Given the description of an element on the screen output the (x, y) to click on. 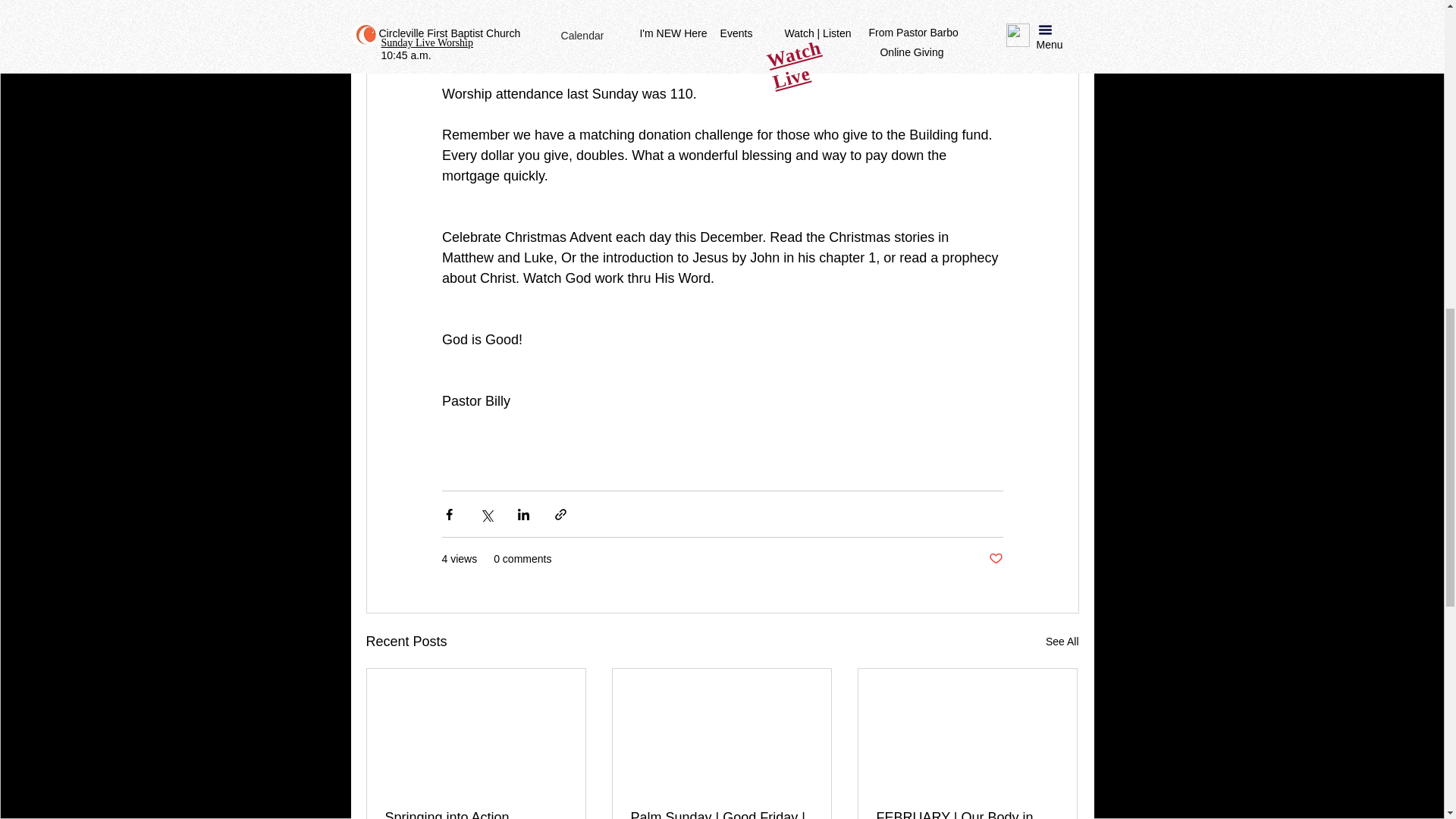
See All (1061, 641)
Post not marked as liked (995, 559)
Springing into Action (476, 814)
